Given the description of an element on the screen output the (x, y) to click on. 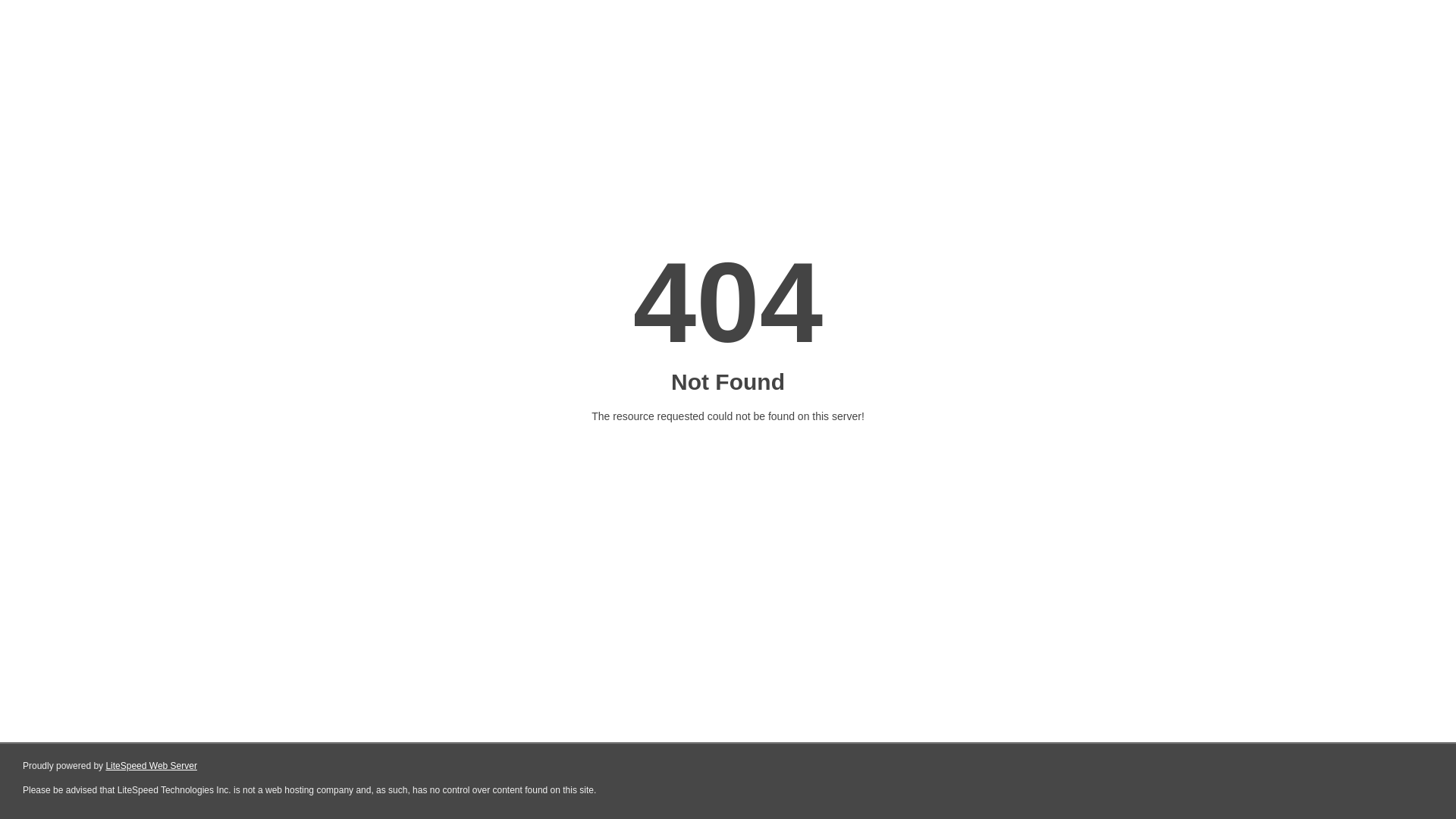
LiteSpeed Web Server Element type: text (151, 765)
